Given the description of an element on the screen output the (x, y) to click on. 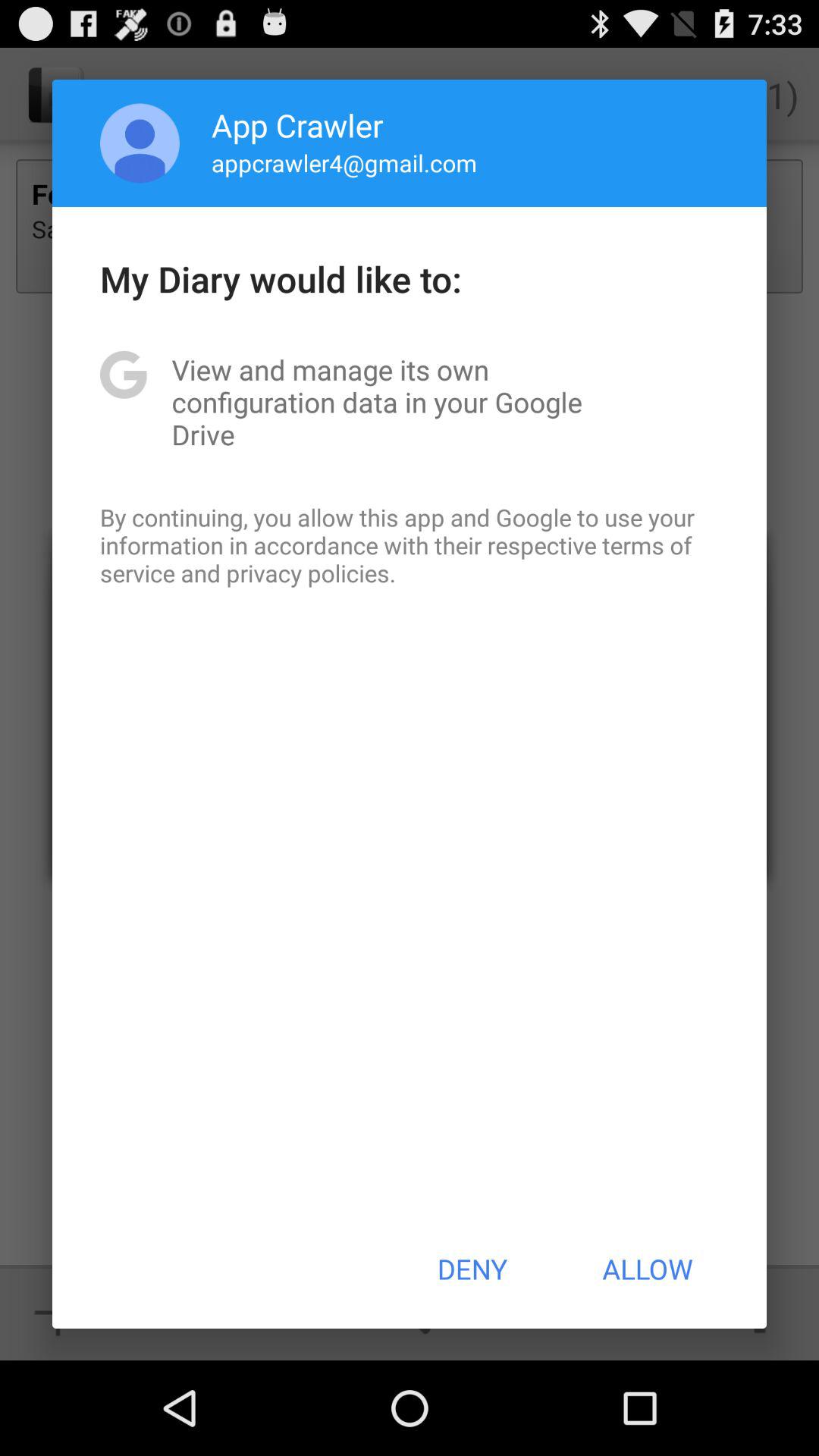
open the icon to the left of allow button (471, 1268)
